Given the description of an element on the screen output the (x, y) to click on. 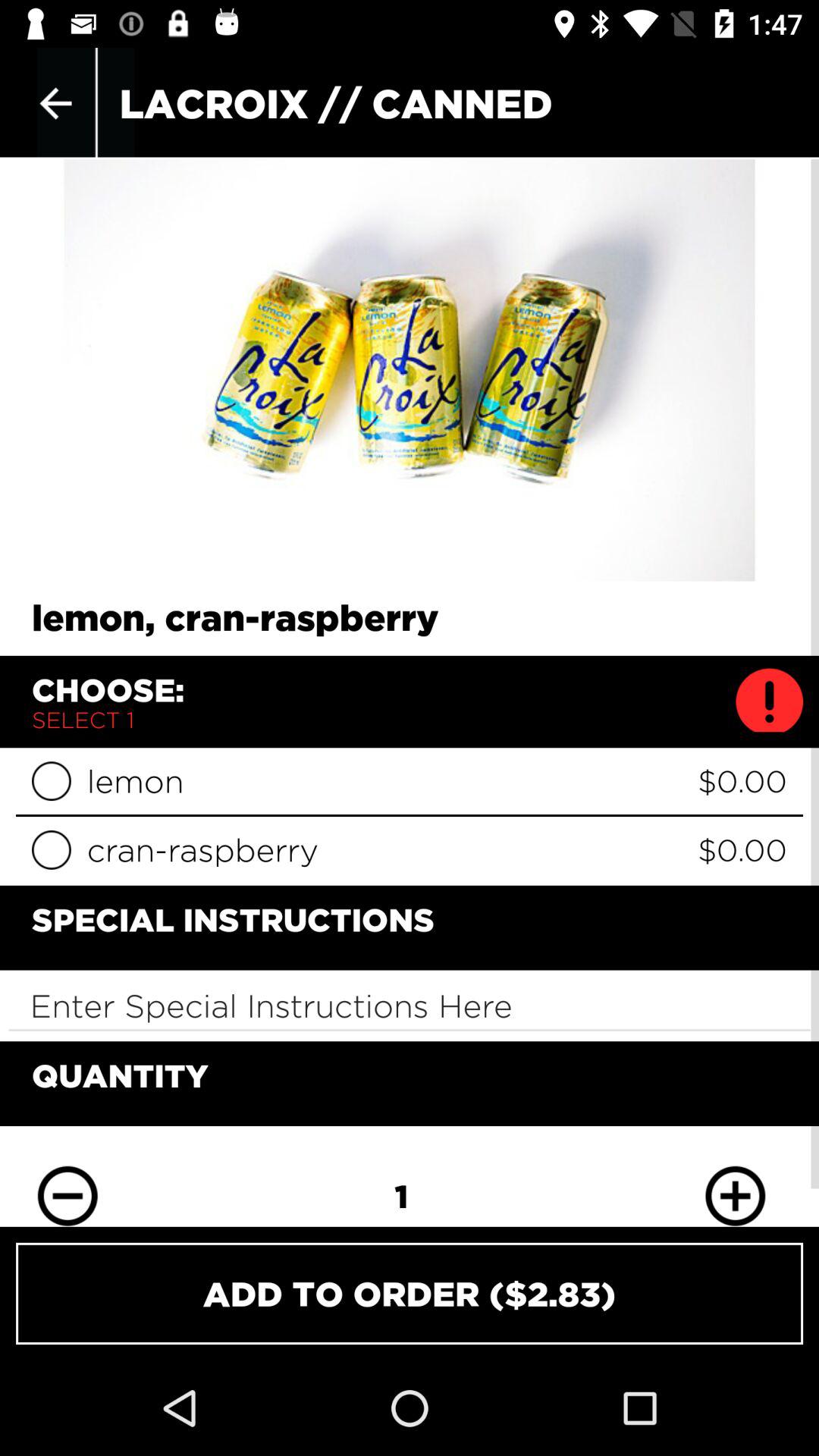
enter your own special instructions (409, 1005)
